Given the description of an element on the screen output the (x, y) to click on. 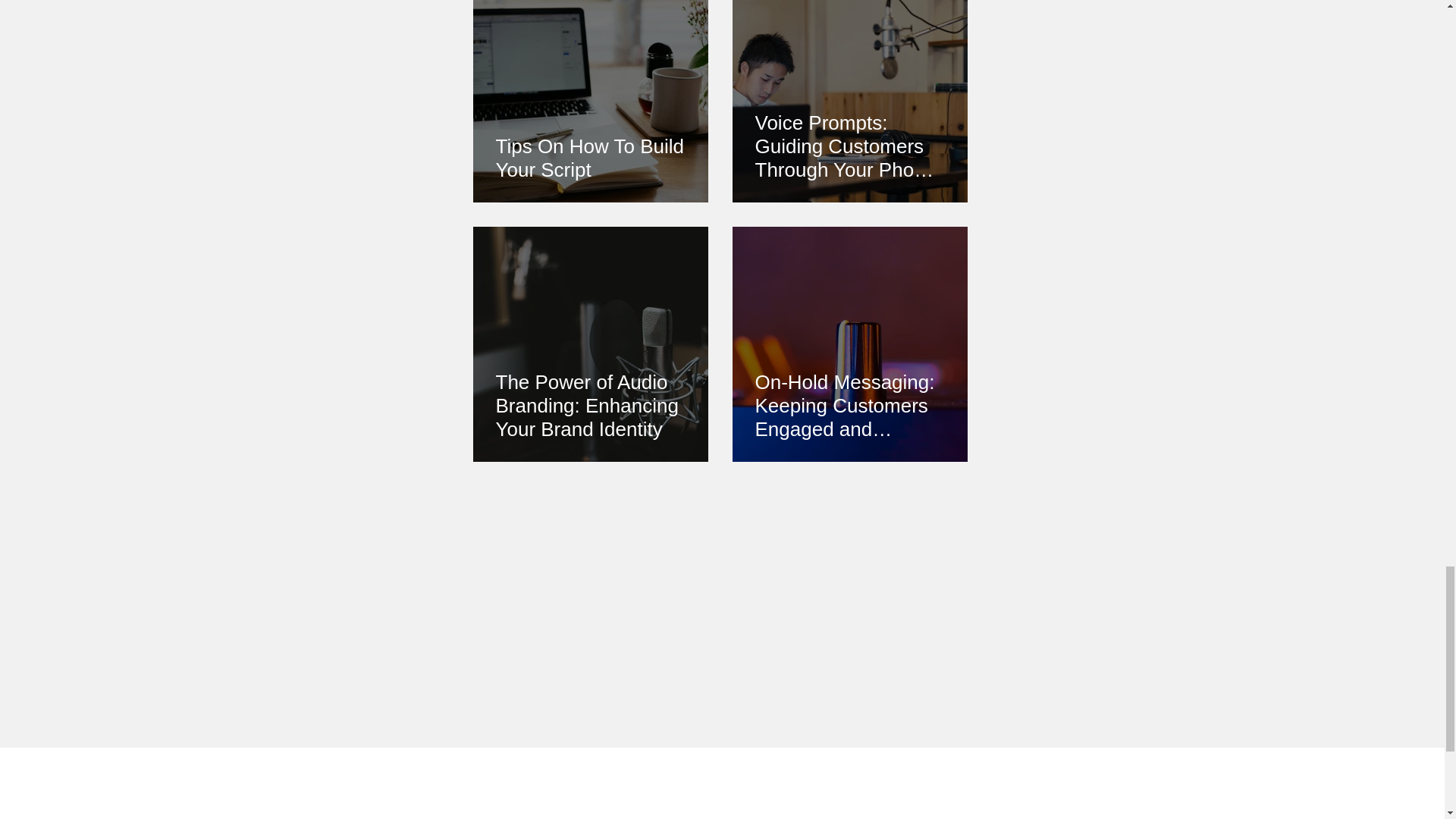
Voice Prompts: Guiding Customers Through Your Phone System (849, 145)
The Power of Audio Branding: Enhancing Your Brand Identity (590, 405)
On-Hold Messaging: Keeping Customers Engaged and Informed (849, 405)
Tips On How To Build Your Script (590, 157)
